Given the description of an element on the screen output the (x, y) to click on. 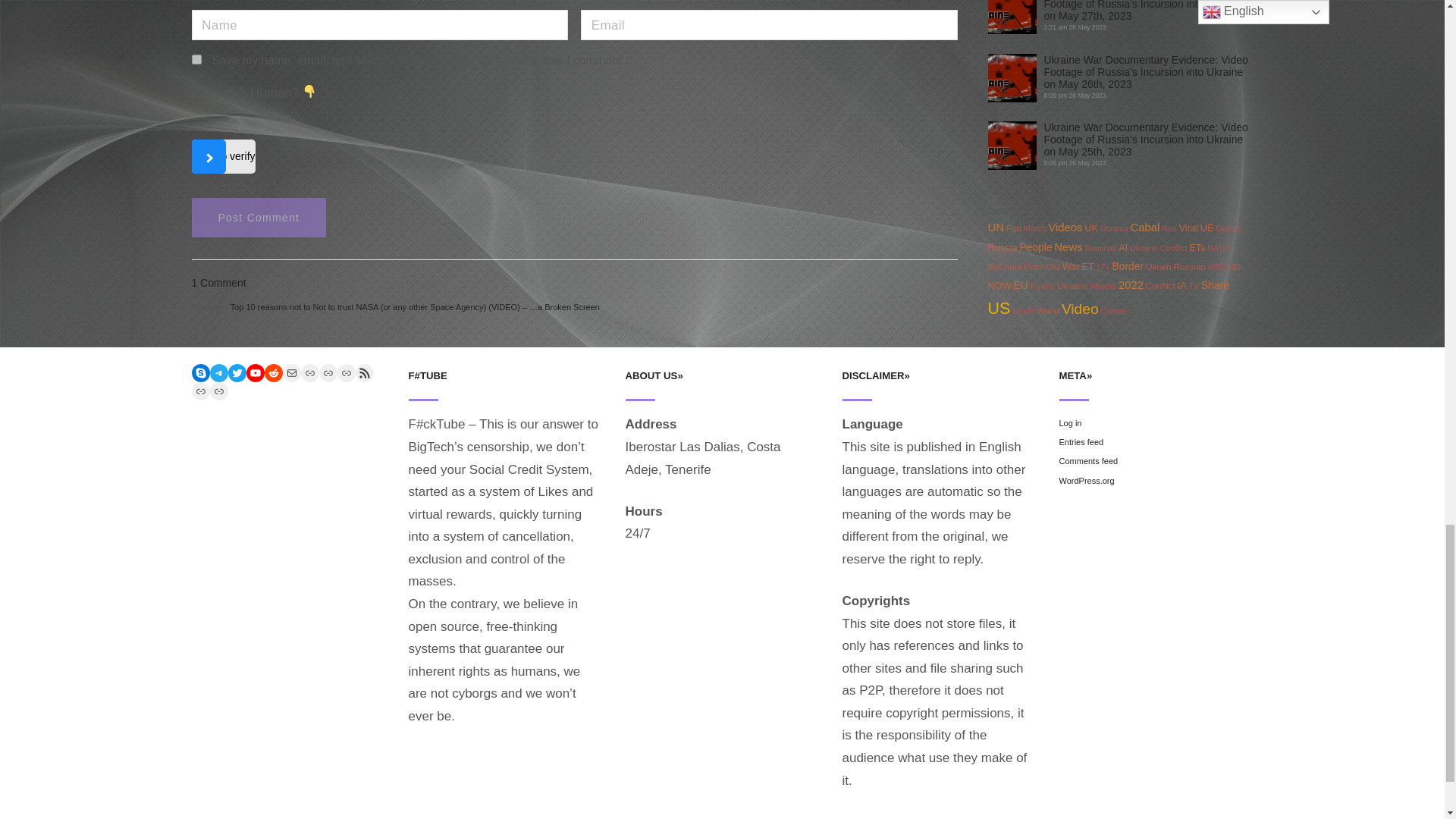
yes (195, 59)
Post Comment (258, 217)
